Given the description of an element on the screen output the (x, y) to click on. 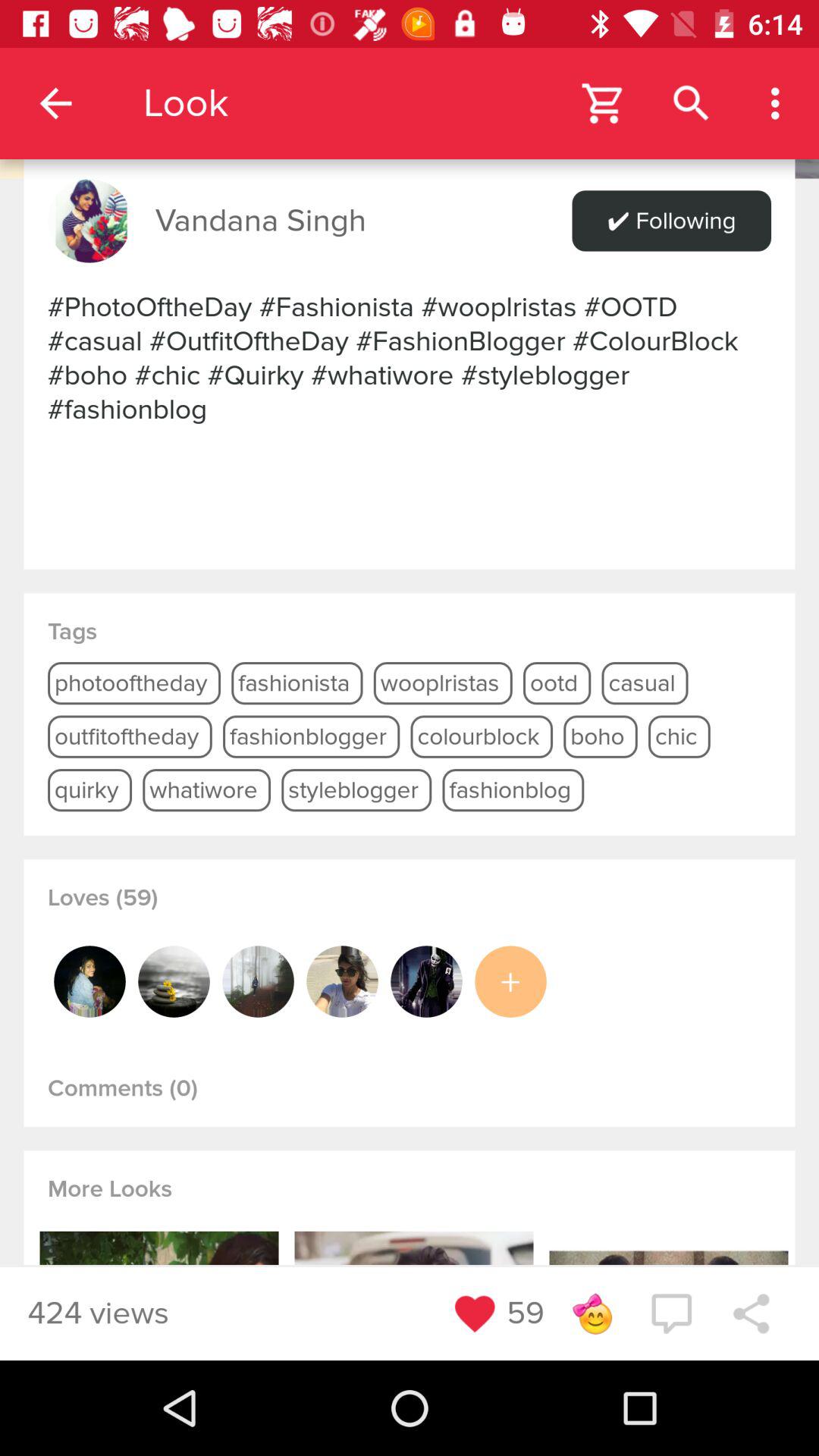
press item above the comments (0) icon (510, 981)
